Given the description of an element on the screen output the (x, y) to click on. 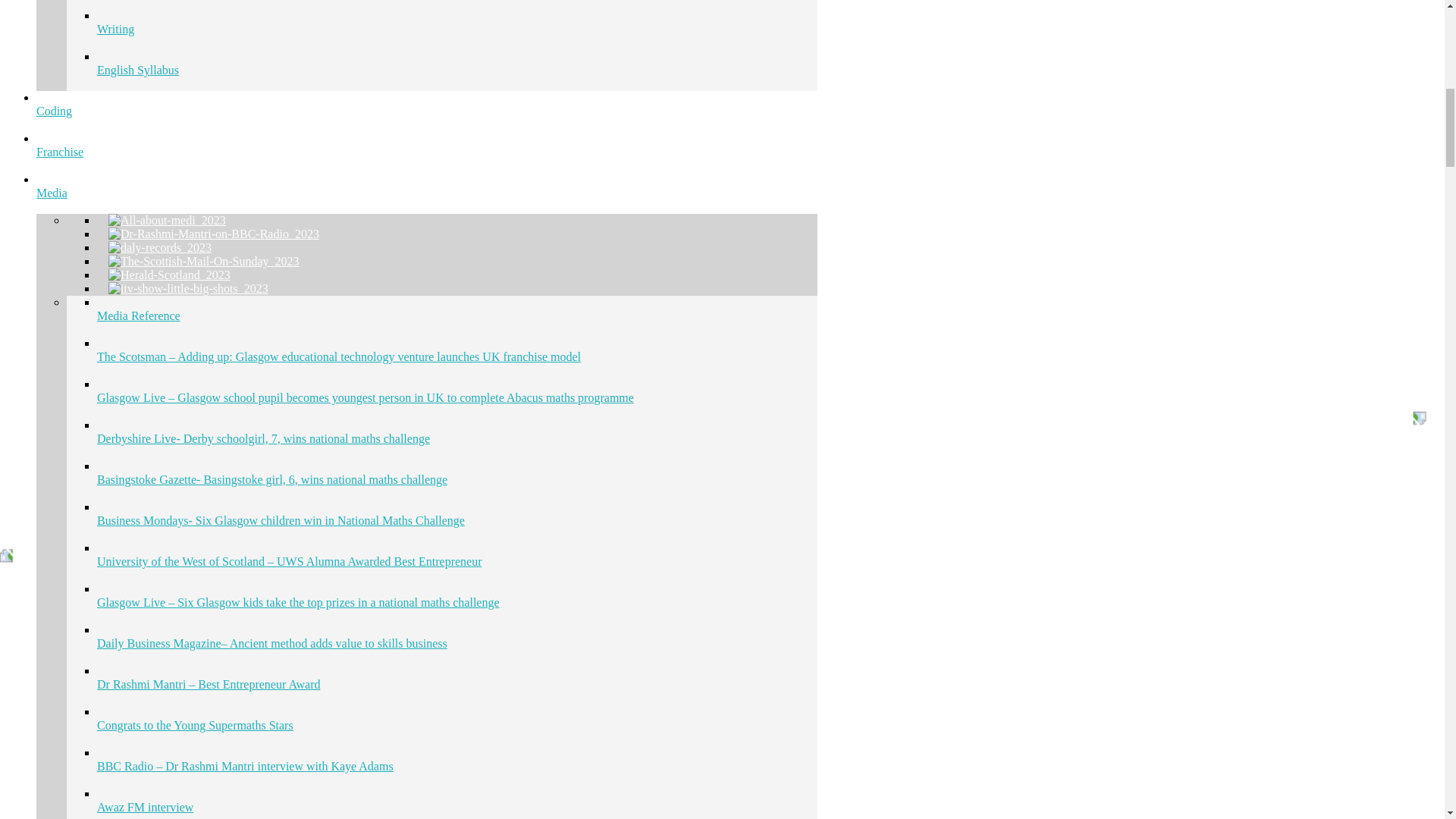
Writing (456, 33)
Spellings (456, 13)
English Syllabus (456, 69)
